Given the description of an element on the screen output the (x, y) to click on. 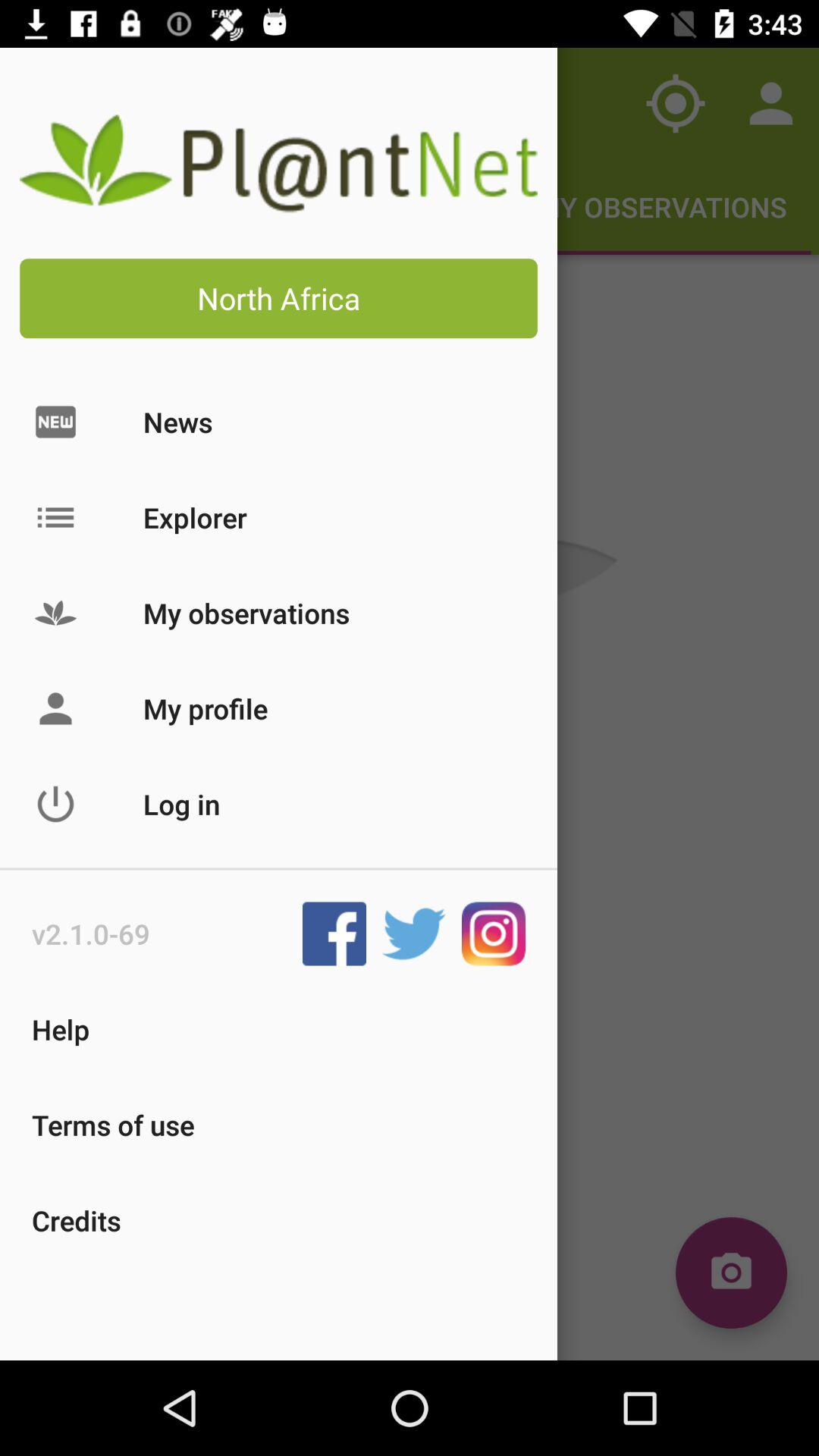
select the camera icon (731, 1273)
click on the contacts icon (771, 103)
click on the current location icon (675, 103)
